Given the description of an element on the screen output the (x, y) to click on. 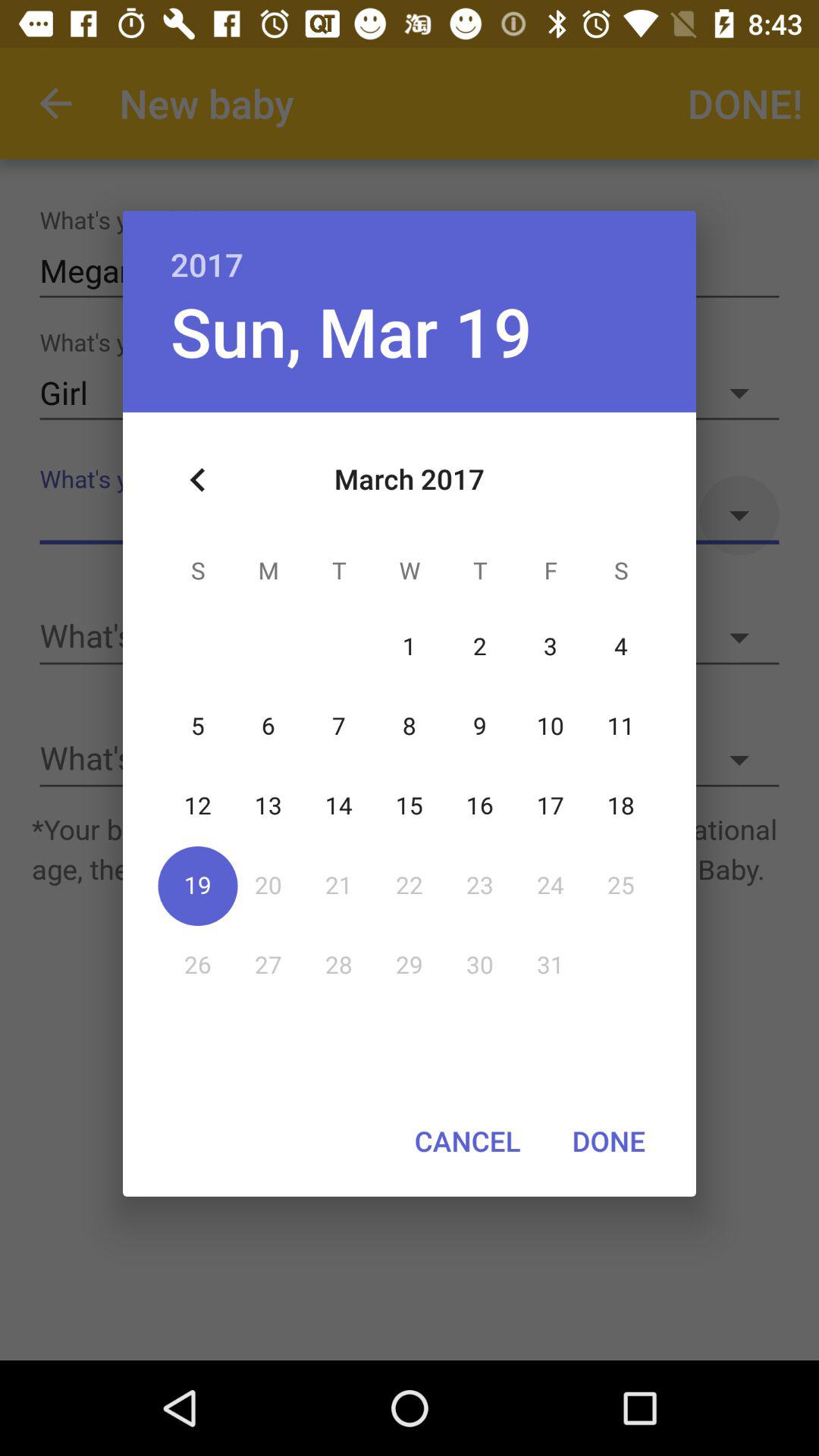
swipe to the sun, mar 19 (351, 331)
